Given the description of an element on the screen output the (x, y) to click on. 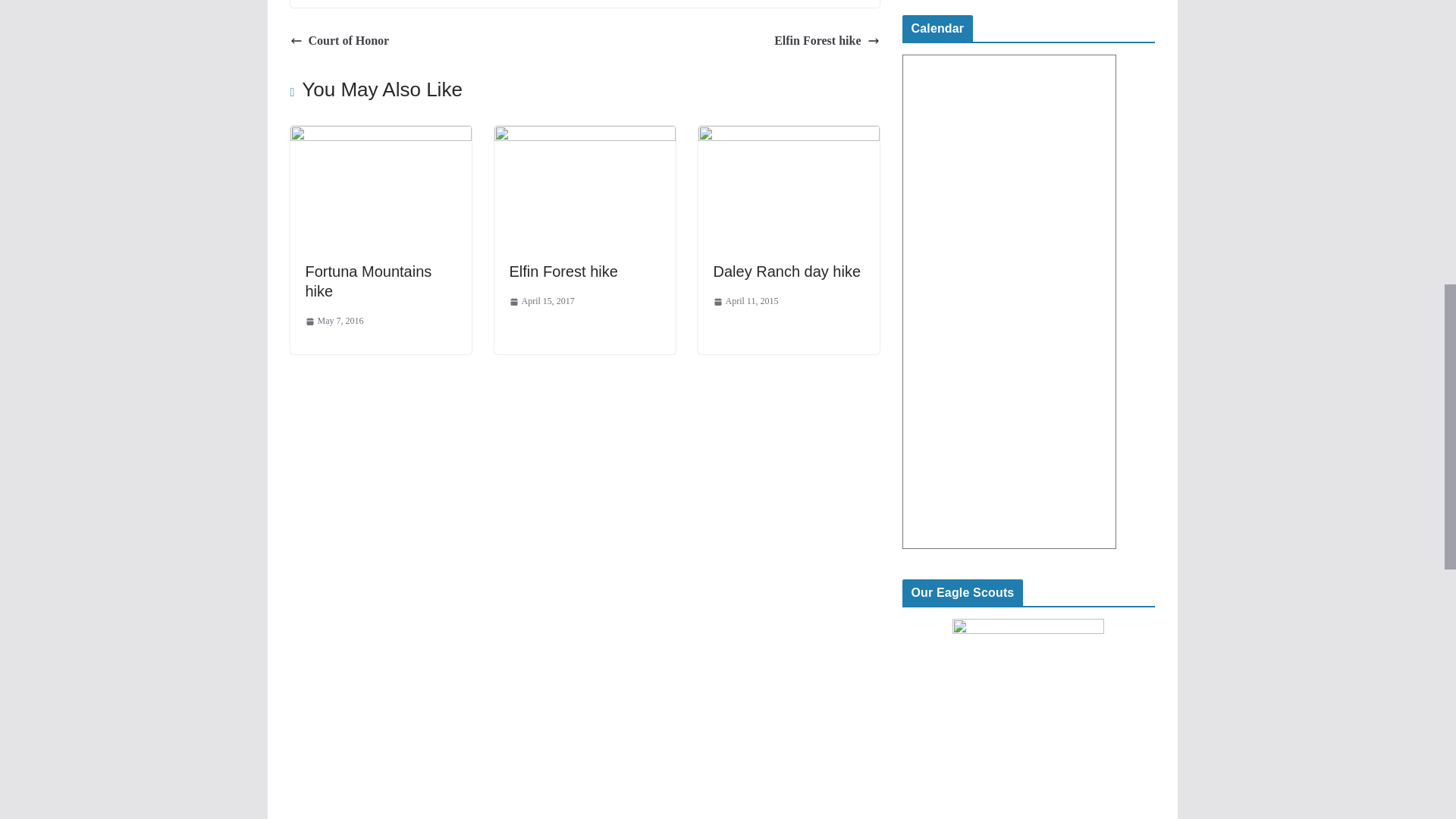
22:00 (542, 301)
Court of Honor (338, 41)
Elfin Forest hike (585, 135)
Fortuna Mountains hike (379, 135)
21:00 (333, 321)
Daley Ranch day hike (788, 135)
Daley Ranch day hike (786, 271)
Elfin Forest hike (563, 271)
Fortuna Mountains hike (367, 280)
